Given the description of an element on the screen output the (x, y) to click on. 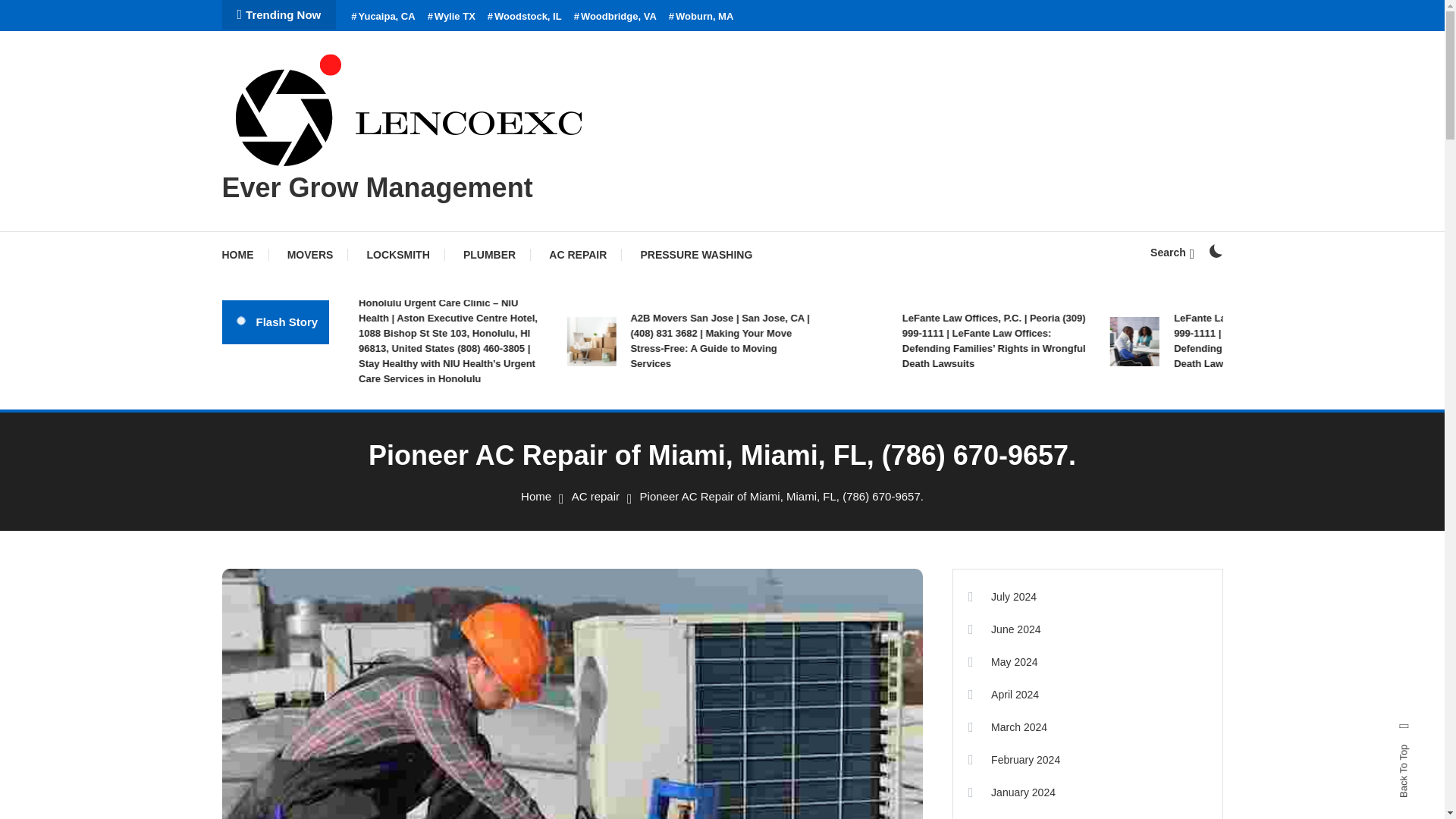
Woodbridge, VA (614, 16)
PLUMBER (489, 254)
Search (1171, 252)
Woodstock, IL (524, 16)
Home (536, 495)
Ever Grow Management (376, 187)
AC repair (596, 495)
on (1215, 250)
MOVERS (310, 254)
Woburn, MA (700, 16)
PRESSURE WASHING (695, 254)
Search (768, 434)
Yucaipa, CA (382, 16)
HOME (244, 254)
AC REPAIR (577, 254)
